Given the description of an element on the screen output the (x, y) to click on. 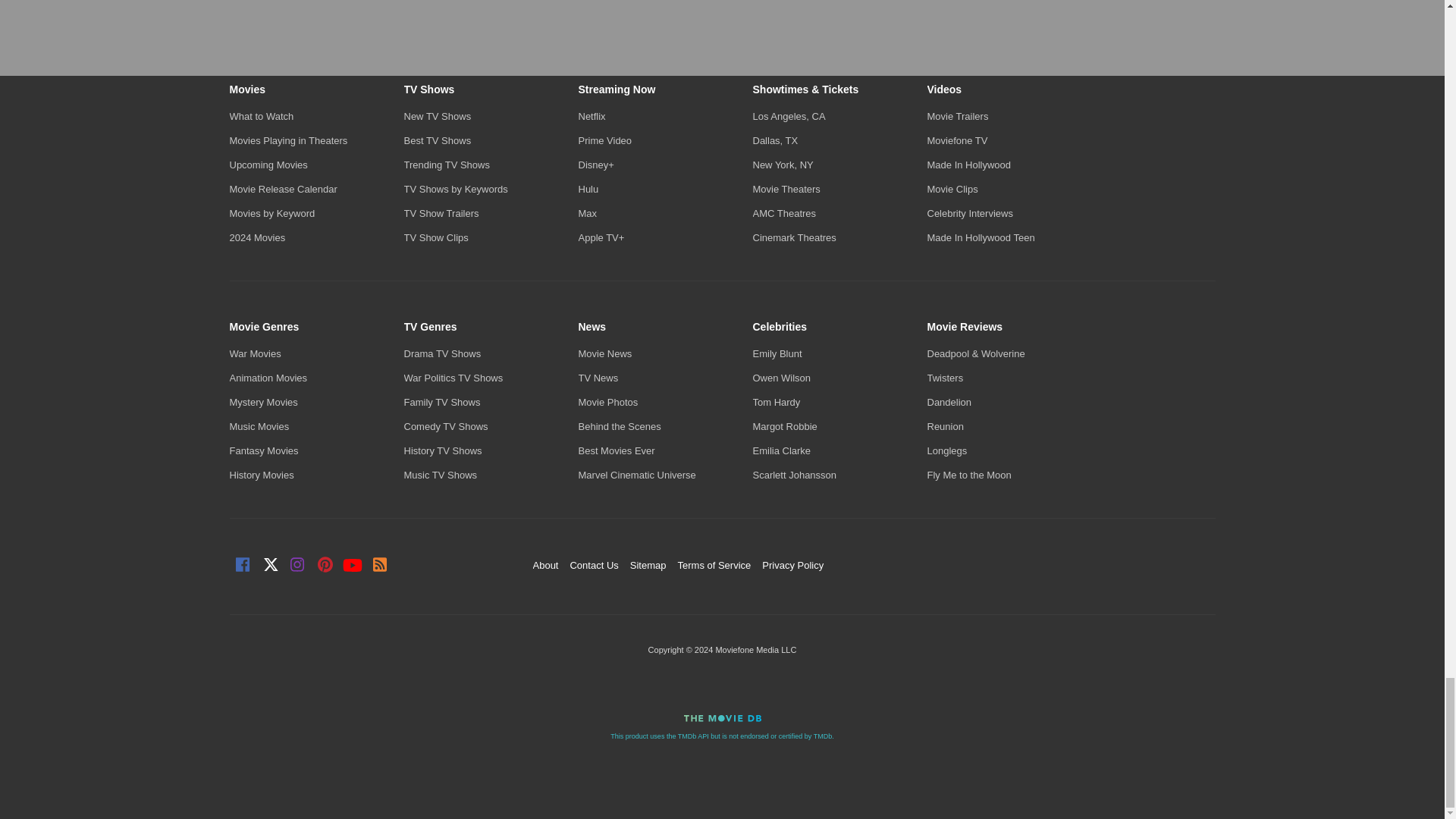
Follow Moviefone on X (270, 565)
Follow Moviefone on Facebook (242, 565)
